Given the description of an element on the screen output the (x, y) to click on. 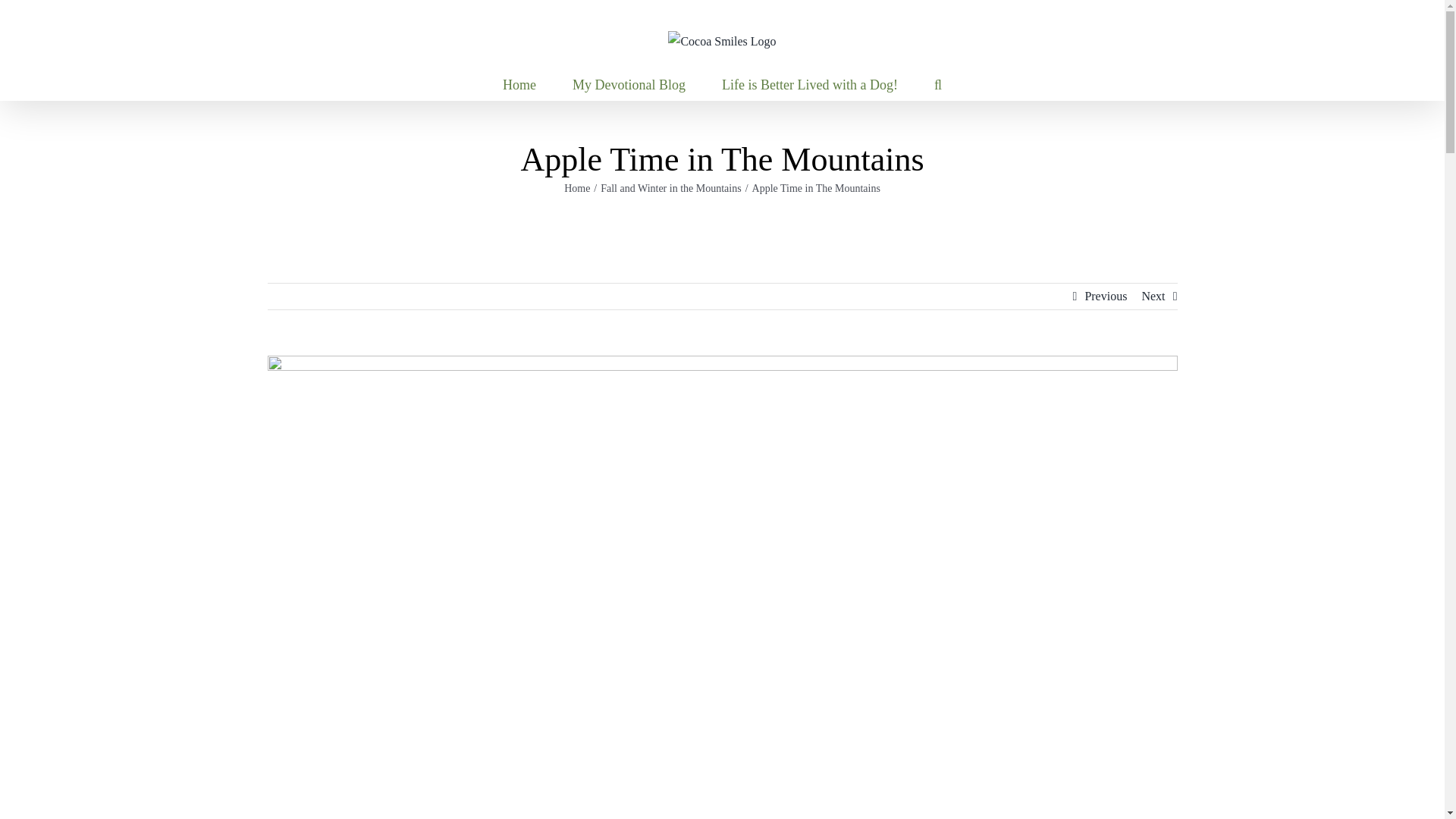
Home (518, 84)
Fall and Winter in the Mountains (670, 188)
My Devotional Blog (628, 84)
Life is Better Lived with a Dog! (810, 84)
Home (576, 188)
Next (1152, 296)
Previous (1105, 296)
